Given the description of an element on the screen output the (x, y) to click on. 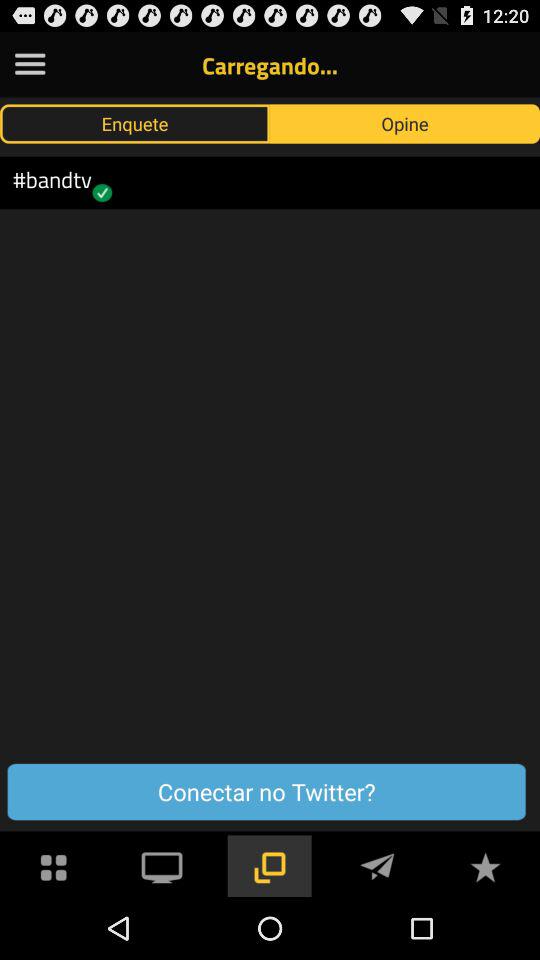
send message (377, 865)
